Given the description of an element on the screen output the (x, y) to click on. 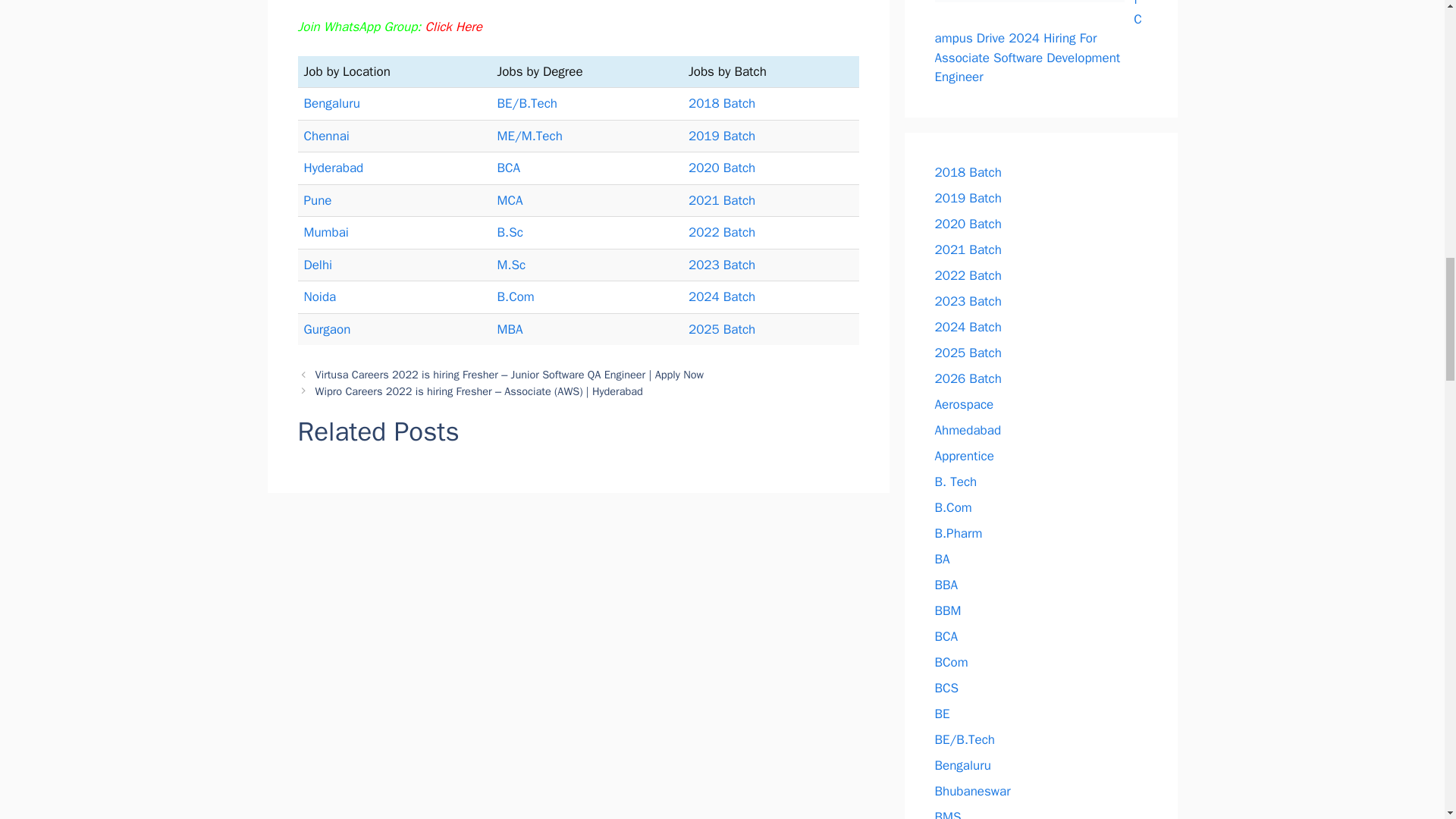
Bengaluru (330, 103)
Click Here (453, 26)
